Given the description of an element on the screen output the (x, y) to click on. 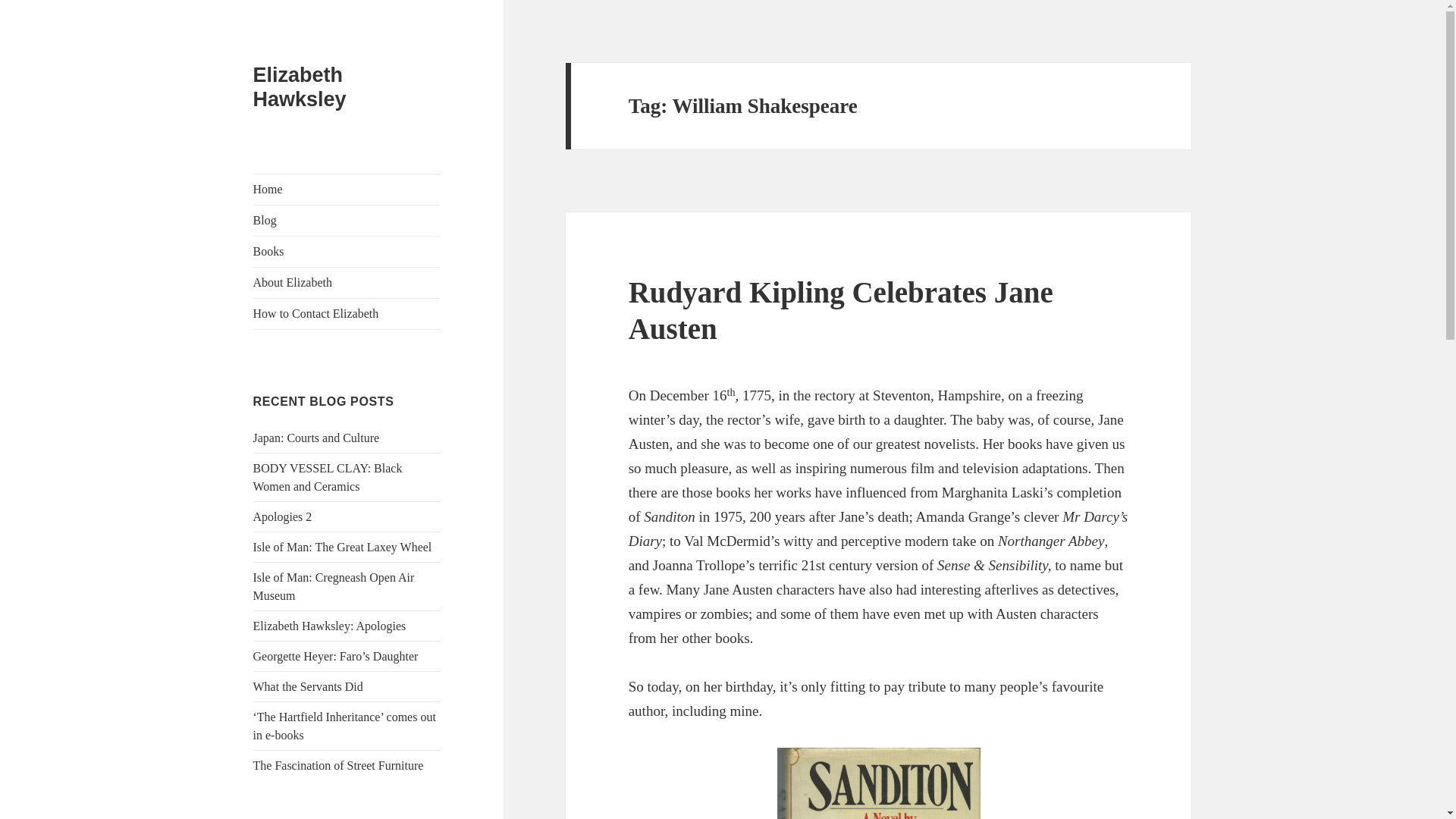
Home (347, 189)
Apologies 2 (283, 516)
BODY VESSEL CLAY: Black Women and Ceramics (328, 477)
What the Servants Did (307, 686)
About Elizabeth (347, 282)
Isle of Man: Cregneash Open Air Museum (333, 585)
Books (347, 251)
The Fascination of Street Furniture (338, 765)
Isle of Man: The Great Laxey Wheel (342, 546)
How to Contact Elizabeth (347, 313)
